Given the description of an element on the screen output the (x, y) to click on. 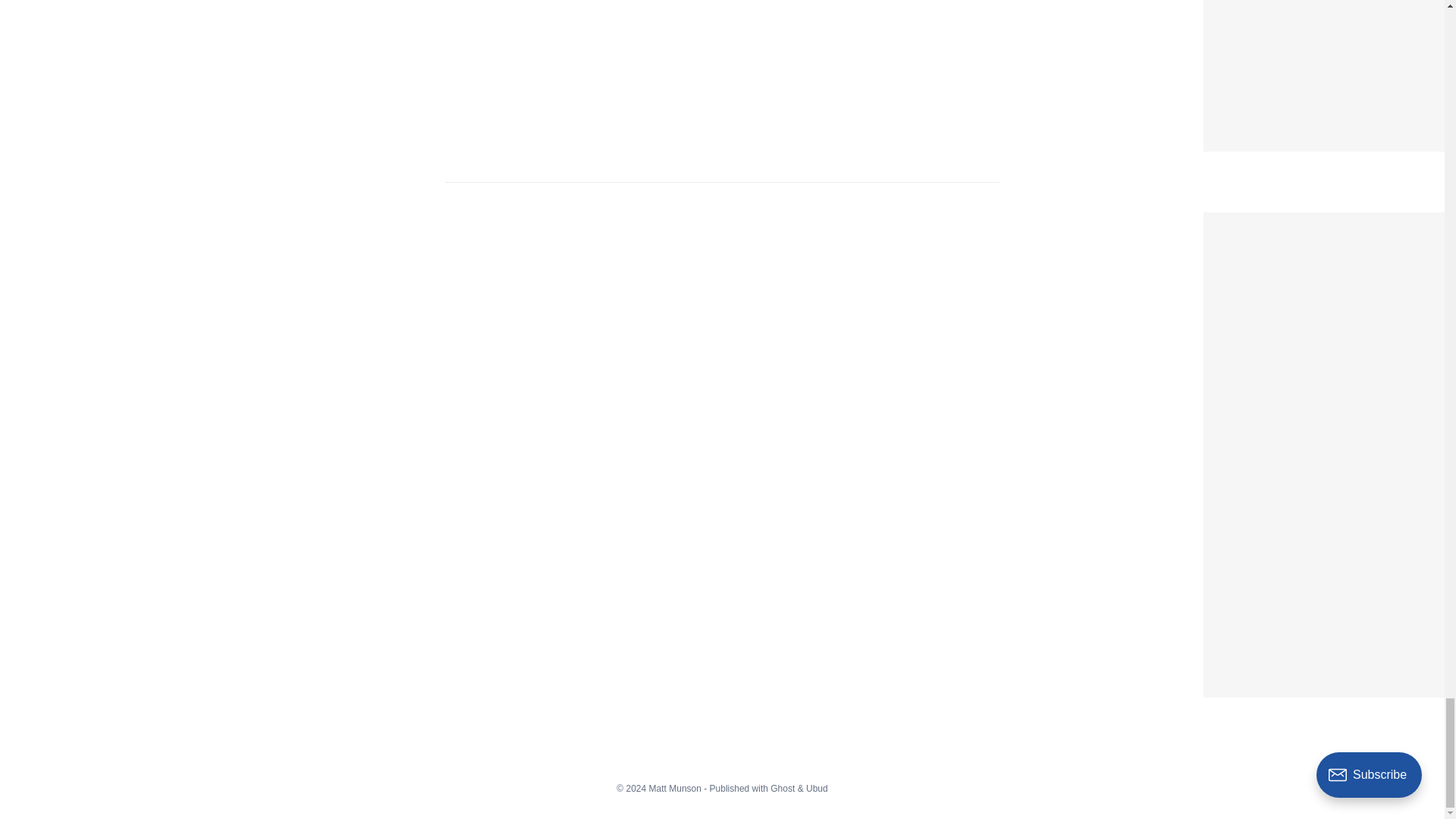
Ubud (817, 787)
Ghost (782, 787)
